Given the description of an element on the screen output the (x, y) to click on. 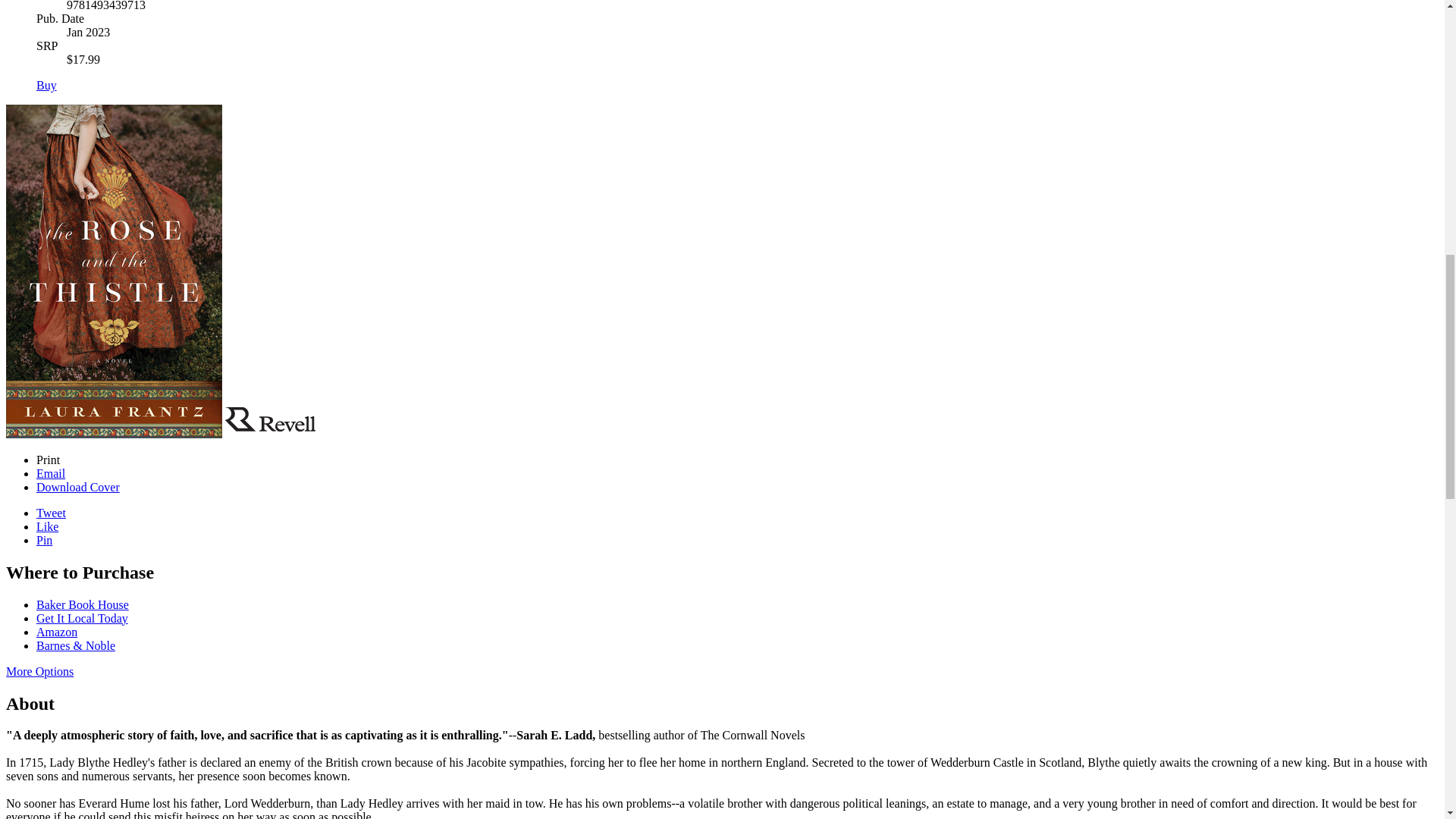
Pin (44, 540)
Baker Book House (82, 604)
Amazon (56, 631)
More Options (39, 671)
Download Cover (77, 486)
Like (47, 526)
Tweet (50, 512)
Email (50, 472)
Get It Local Today (82, 617)
Buy (46, 84)
Print (47, 459)
